Given the description of an element on the screen output the (x, y) to click on. 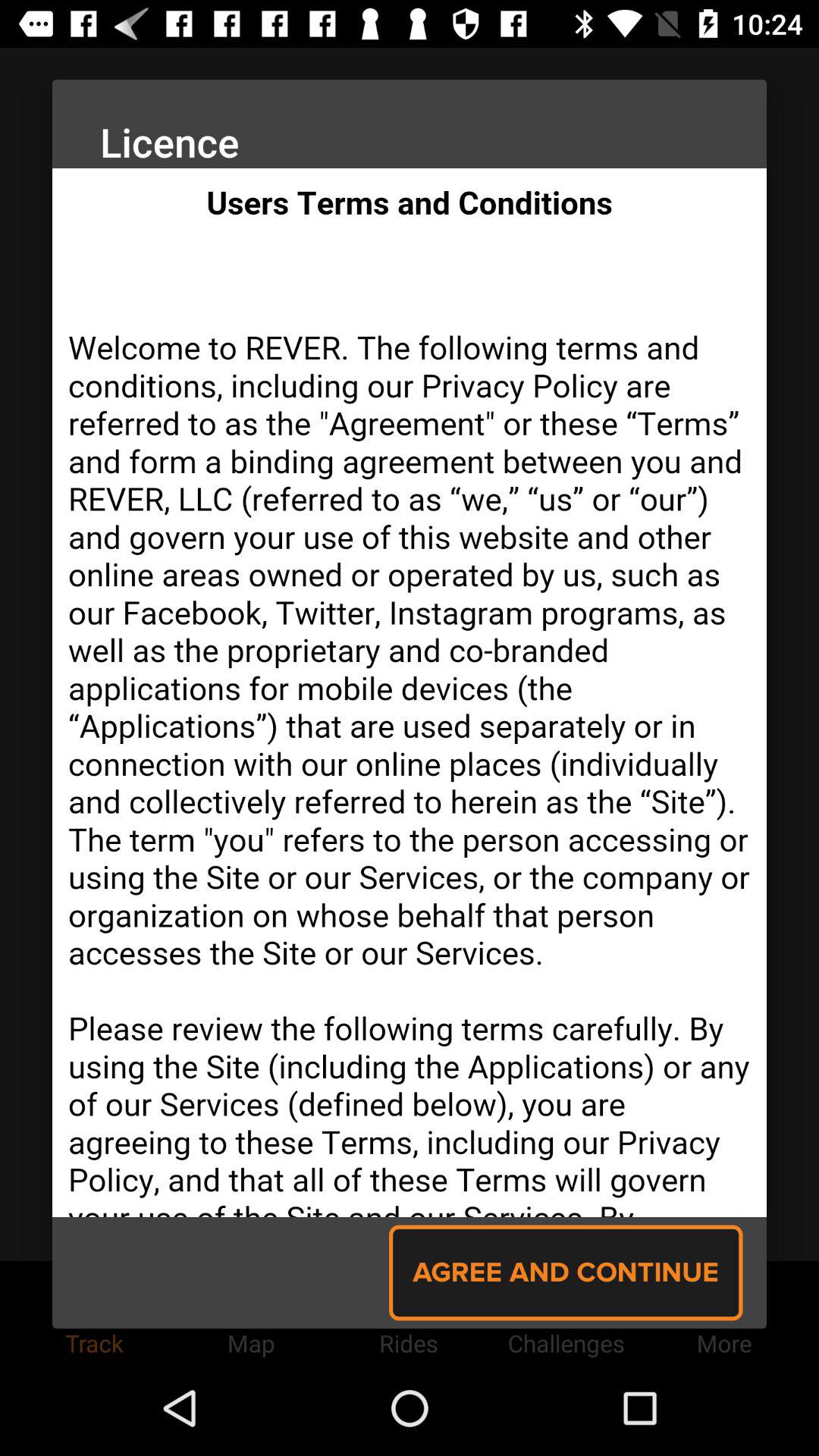
for conditions (409, 692)
